Given the description of an element on the screen output the (x, y) to click on. 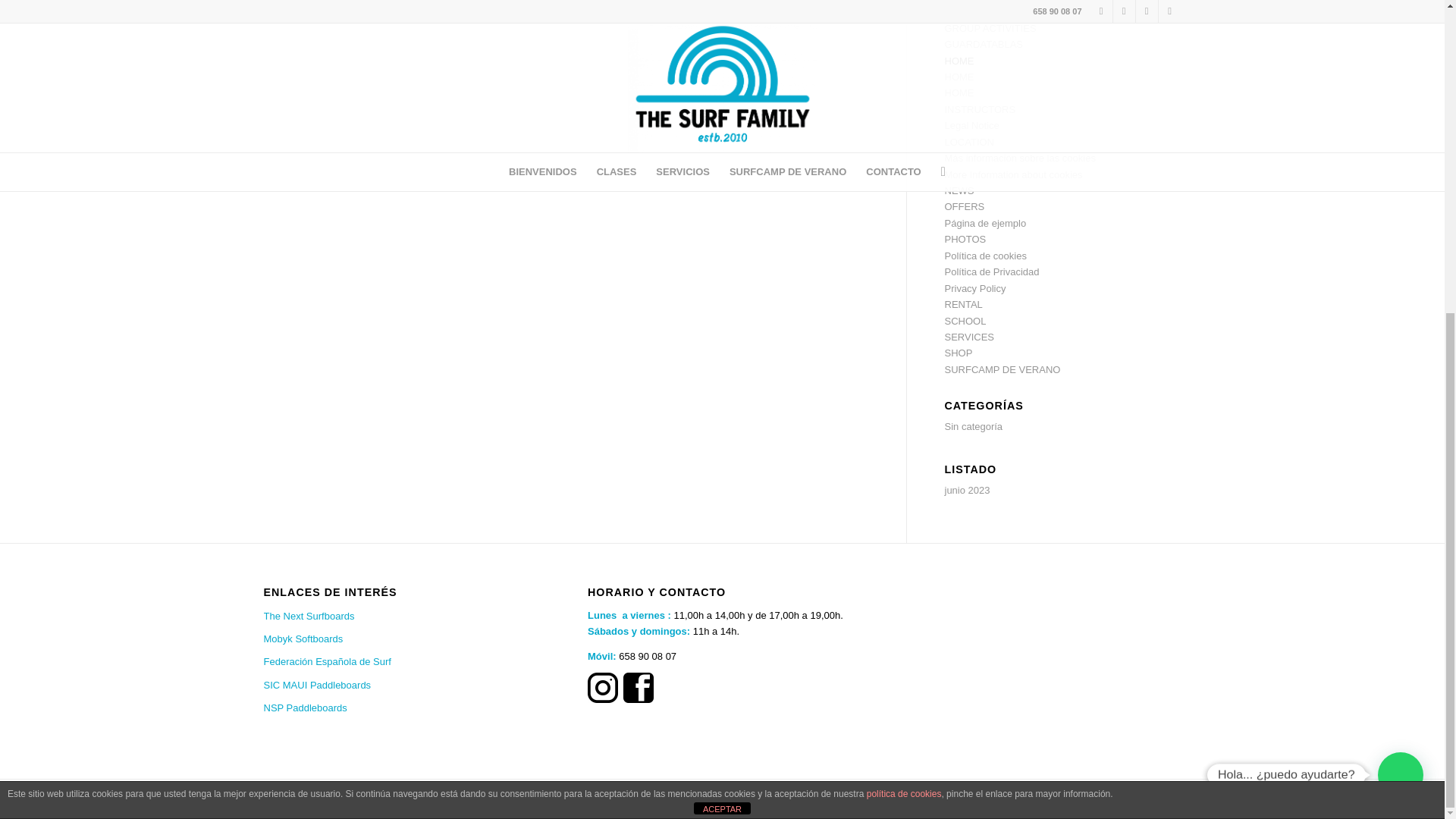
Cookies policy (976, 0)
